Given the description of an element on the screen output the (x, y) to click on. 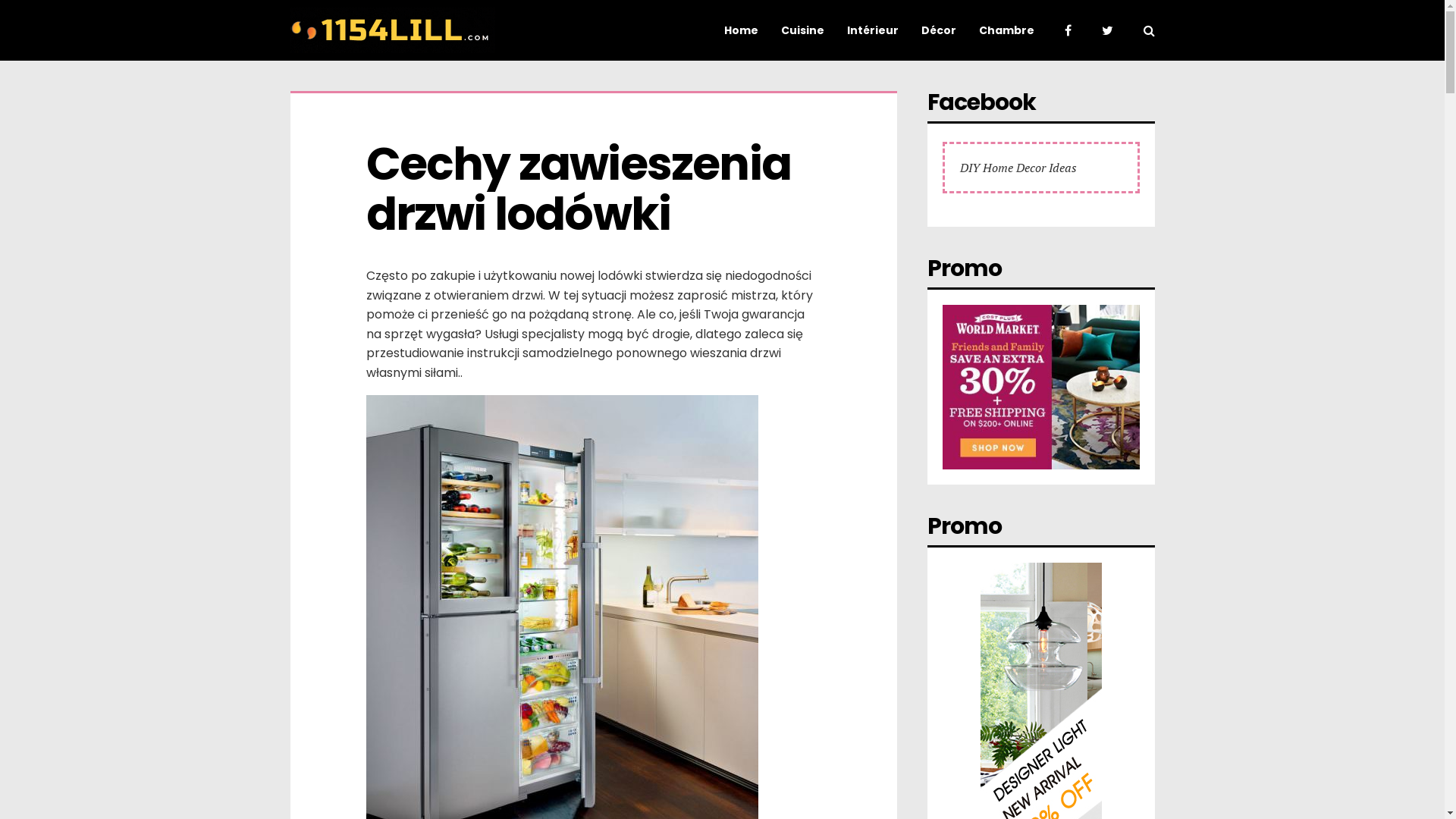
DIY Home Decor Ideas Element type: text (1018, 167)
